Given the description of an element on the screen output the (x, y) to click on. 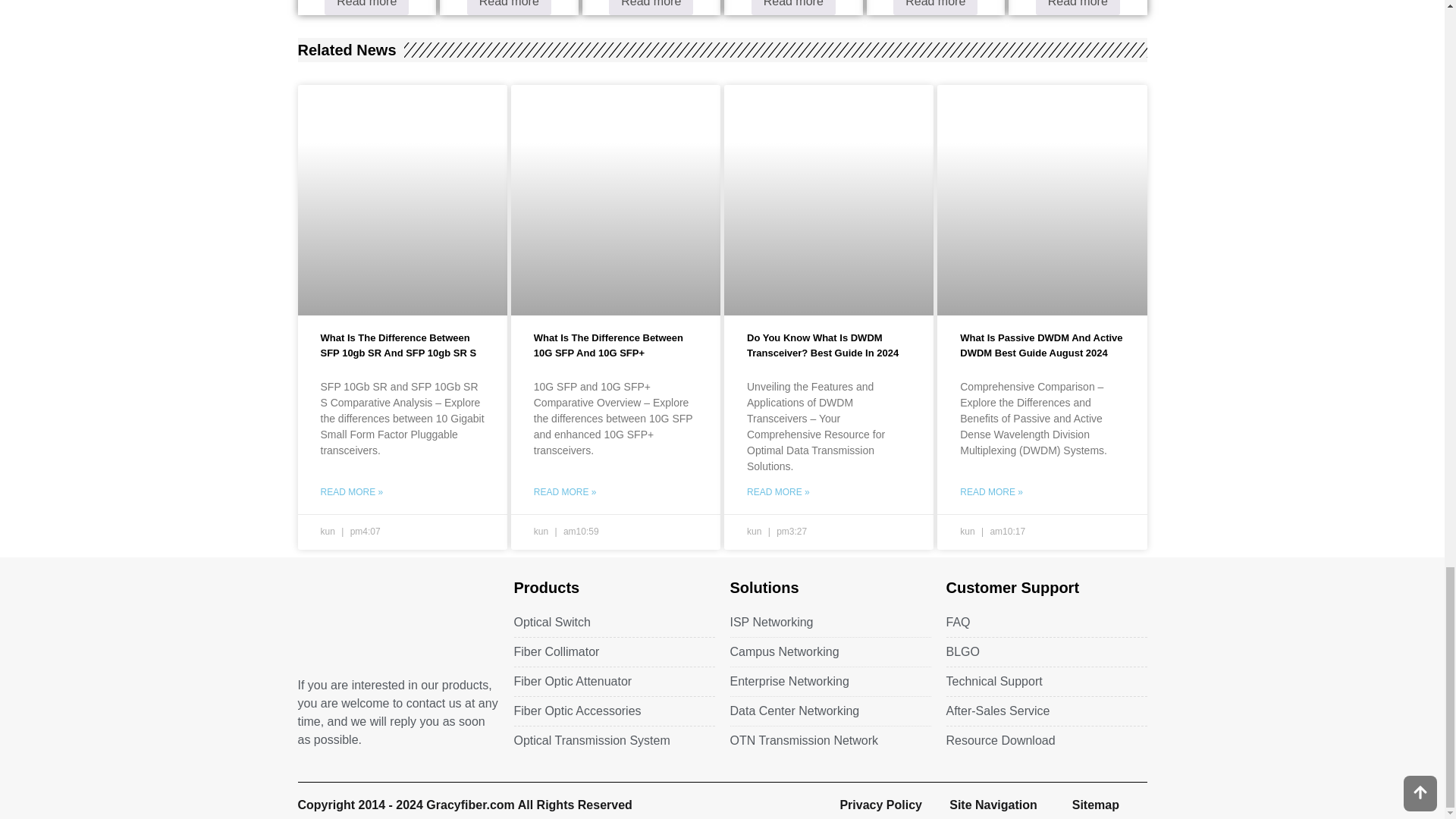
Read more (650, 7)
Read more (366, 7)
Read more (1077, 7)
Read more (793, 7)
Read more (934, 7)
Read more (509, 7)
